Given the description of an element on the screen output the (x, y) to click on. 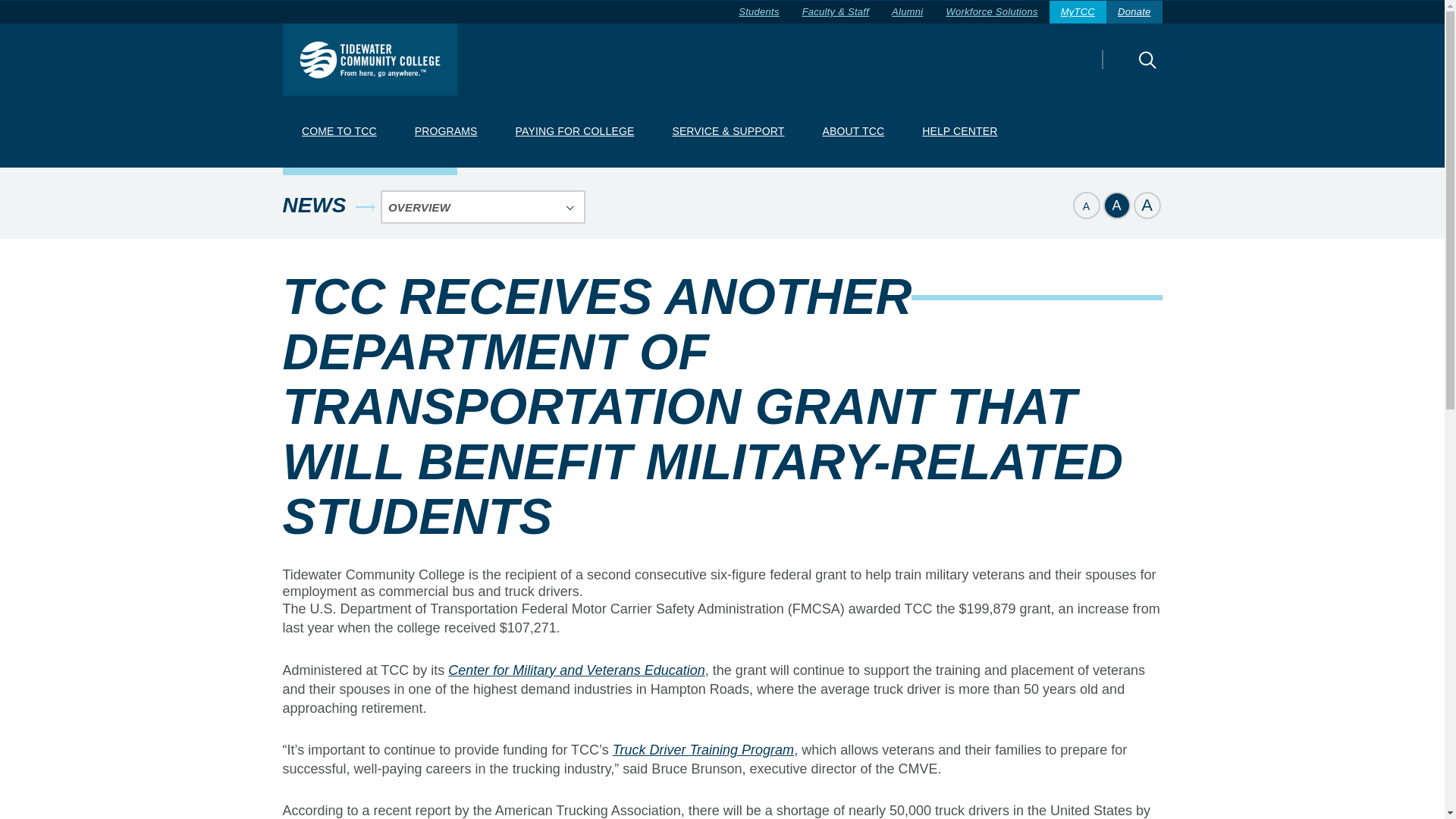
COME TO TCC (338, 131)
Alumni (907, 11)
Set page copy to small size (1085, 205)
Set page copy to normal size (1115, 205)
PROGRAMS (445, 131)
Set page copy to large size (1146, 205)
Students (758, 11)
Donate (1133, 11)
Tidewater Community College (369, 59)
PAYING FOR COLLEGE (574, 131)
Workforce Solutions (991, 11)
Search (1119, 70)
MyTCC (1077, 11)
